Given the description of an element on the screen output the (x, y) to click on. 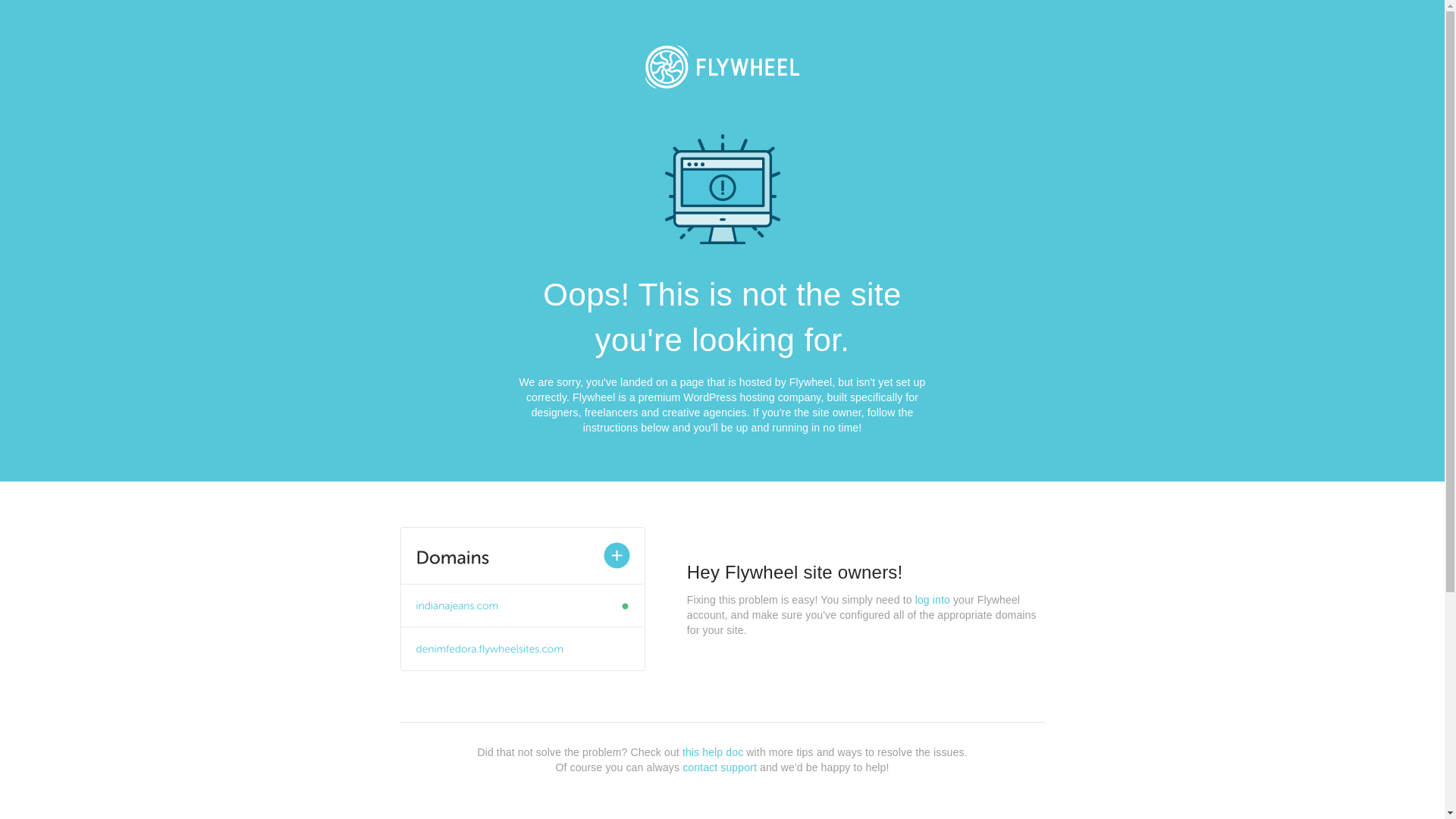
this help doc (712, 752)
log into (932, 599)
contact support (719, 767)
